Given the description of an element on the screen output the (x, y) to click on. 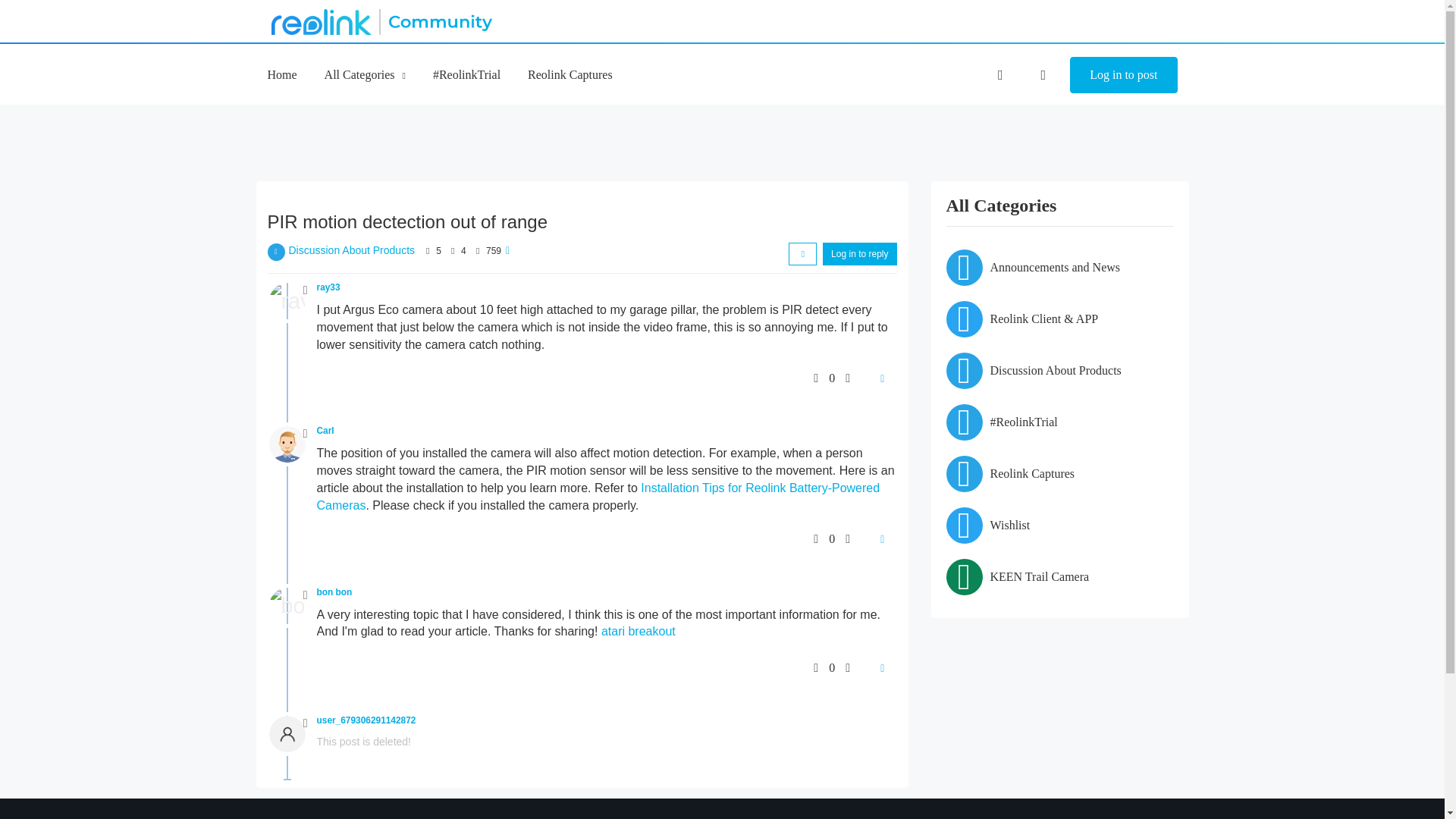
ray33 (328, 286)
Posts (452, 250)
Sort by (802, 253)
All Categories (365, 74)
Log in to reply (859, 253)
Views (477, 250)
759 (493, 250)
Reolink Captures (569, 74)
Home (281, 74)
Discussion About Products (351, 250)
